Given the description of an element on the screen output the (x, y) to click on. 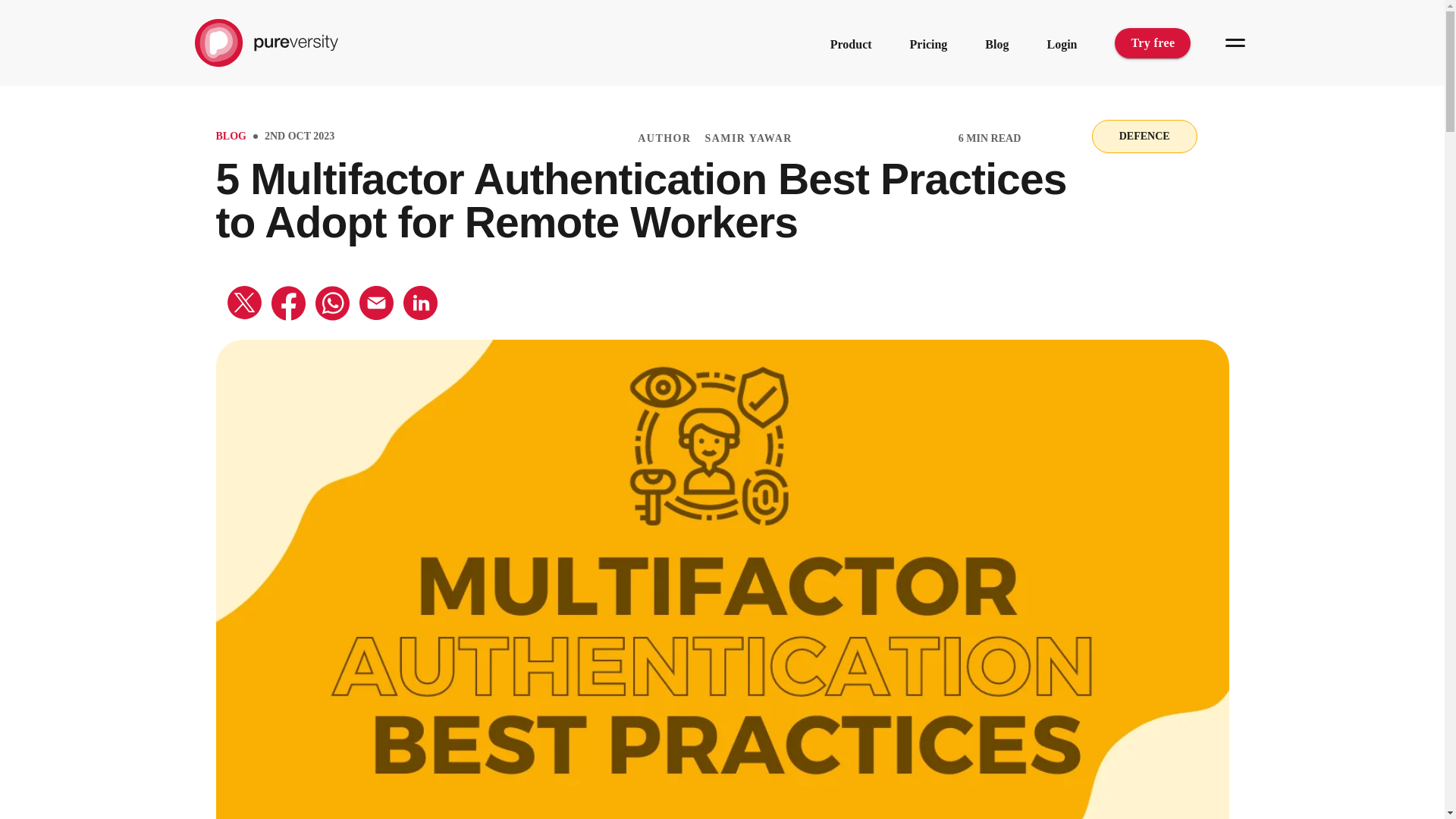
Product (850, 43)
Blog (997, 43)
Share on Facebook (287, 316)
Login (1061, 43)
Try free (1153, 42)
Share on Twitter (244, 314)
Share on LinkedIn (420, 315)
Pricing (928, 43)
Share on WhatsApp (332, 316)
Share on Email (376, 315)
